Given the description of an element on the screen output the (x, y) to click on. 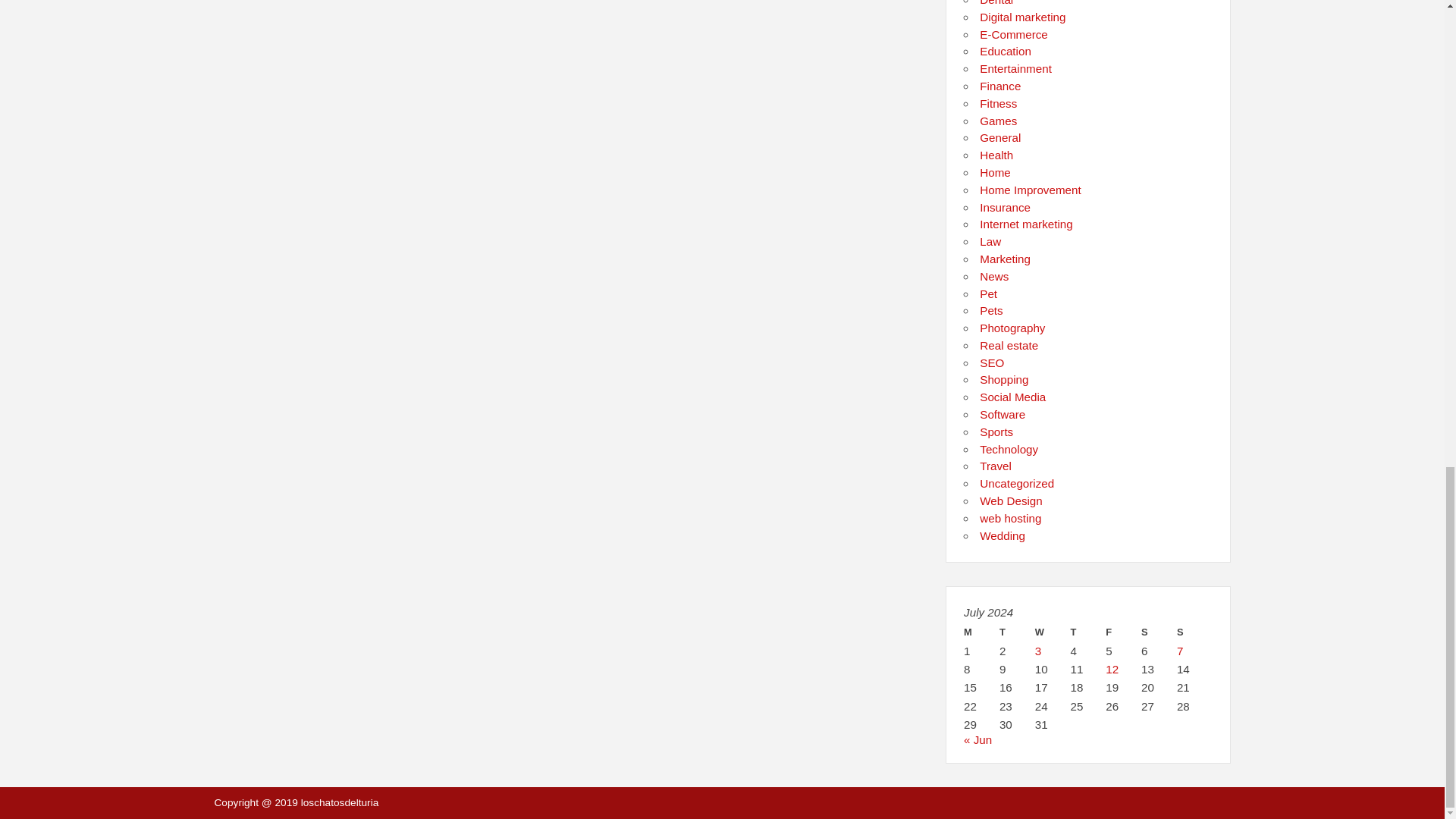
Internet marketing (1025, 223)
Law (990, 241)
Wednesday (1052, 632)
General (999, 137)
Marketing (1004, 258)
Entertainment (1015, 68)
Insurance (1004, 206)
E-Commerce (1012, 33)
Home Improvement (1029, 189)
Health (996, 154)
Home (994, 172)
Dental (996, 2)
Friday (1123, 632)
Monday (980, 632)
Games (997, 120)
